Given the description of an element on the screen output the (x, y) to click on. 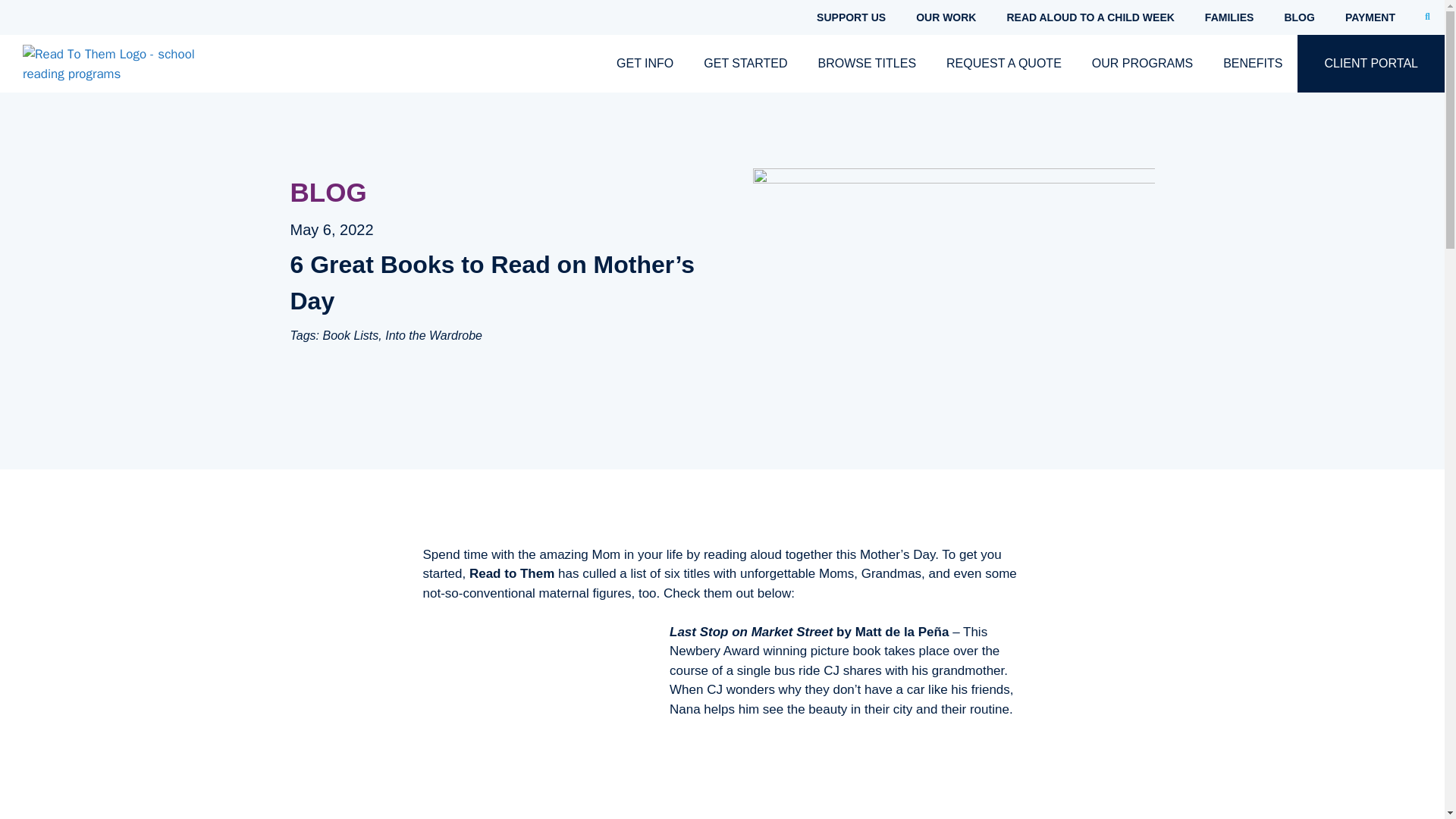
PAYMENT (1370, 17)
FAMILIES (1229, 17)
REQUEST A QUOTE (1004, 63)
SUPPORT US (851, 17)
OUR PROGRAMS (1142, 63)
BLOG (1298, 17)
GET INFO (644, 63)
BENEFITS (1252, 63)
OUR WORK (946, 17)
READ ALOUD TO A CHILD WEEK (1090, 17)
